Given the description of an element on the screen output the (x, y) to click on. 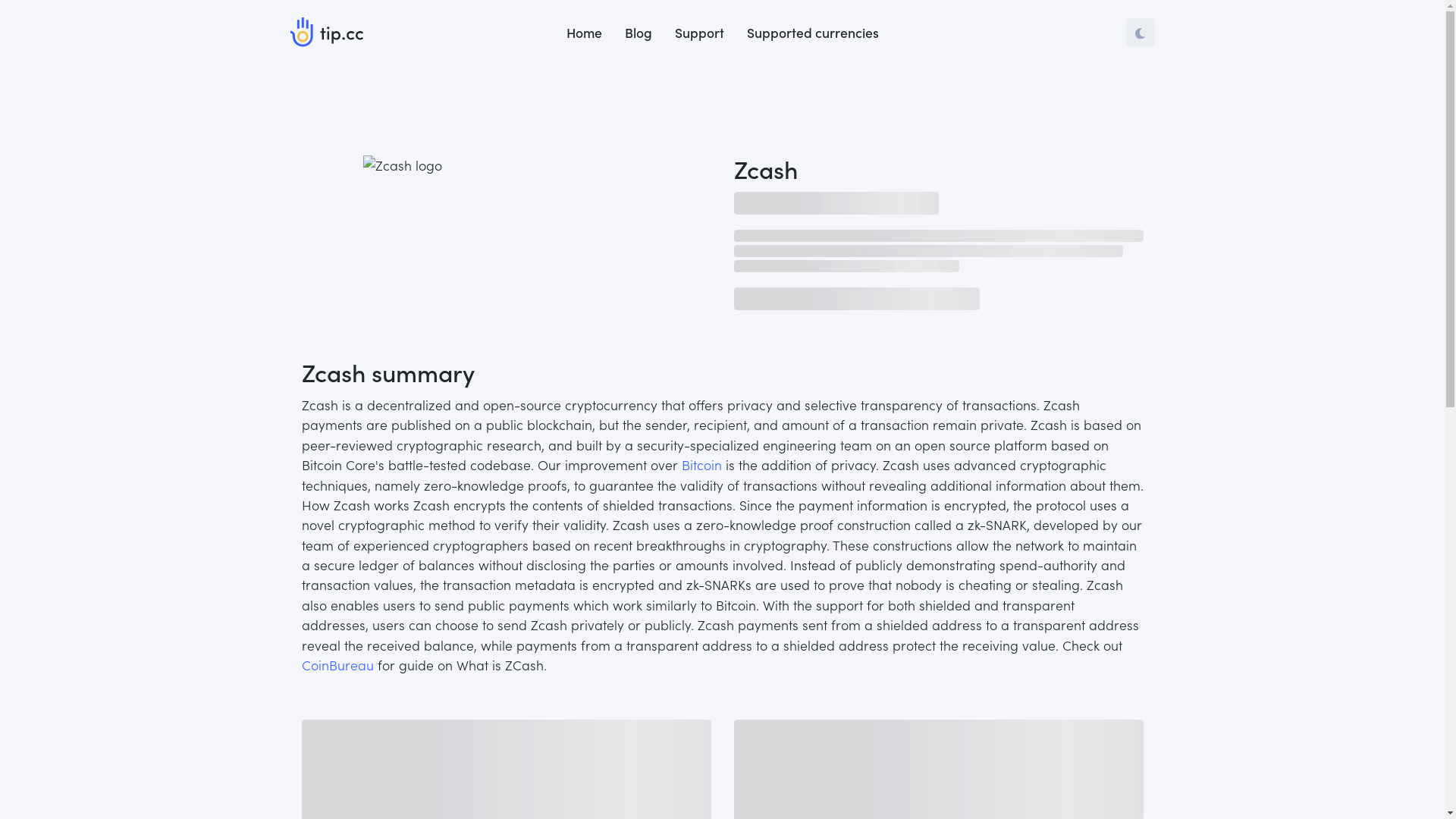
dark mode Element type: text (1139, 32)
Bitcoin Element type: text (700, 464)
tip.cc Element type: text (325, 31)
Support Element type: text (698, 32)
Home Element type: text (584, 32)
Blog Element type: text (637, 32)
CoinBureau Element type: text (337, 664)
Supported currencies Element type: text (812, 32)
